Given the description of an element on the screen output the (x, y) to click on. 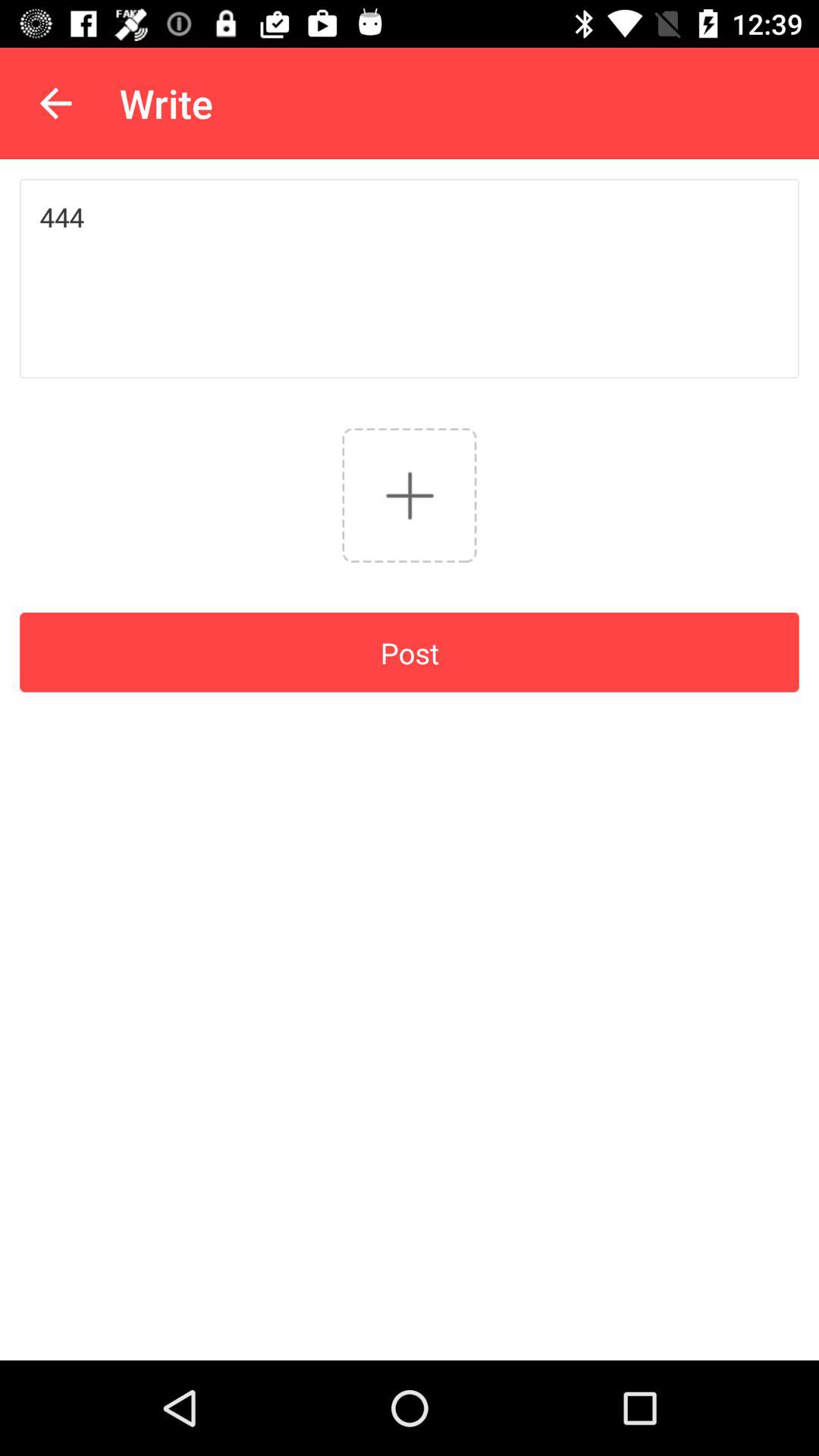
flip until the 444 icon (409, 278)
